Given the description of an element on the screen output the (x, y) to click on. 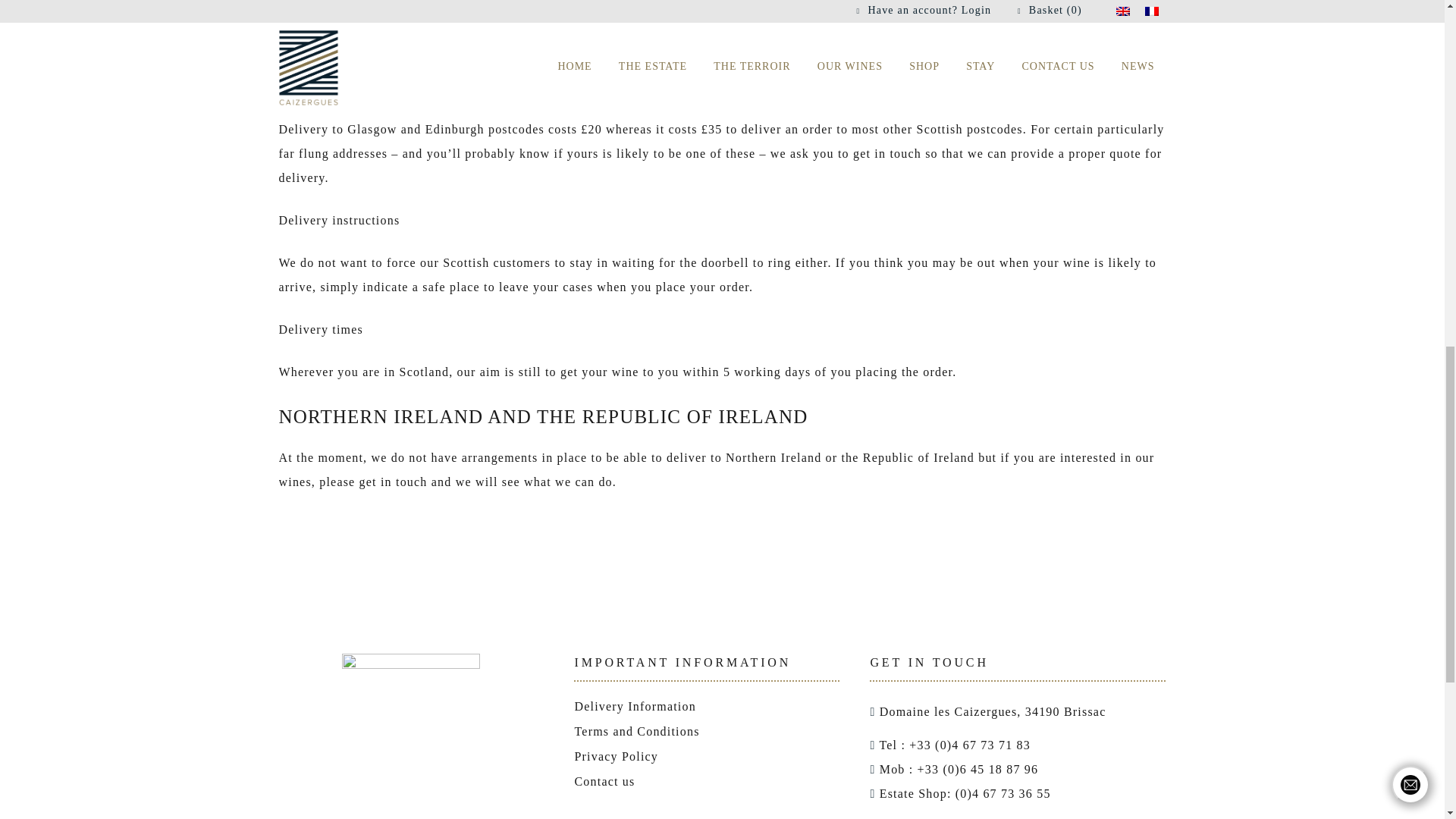
Terms and Conditions (635, 730)
Contact us (603, 780)
Delivery Information (634, 706)
Privacy Policy (615, 756)
